Given the description of an element on the screen output the (x, y) to click on. 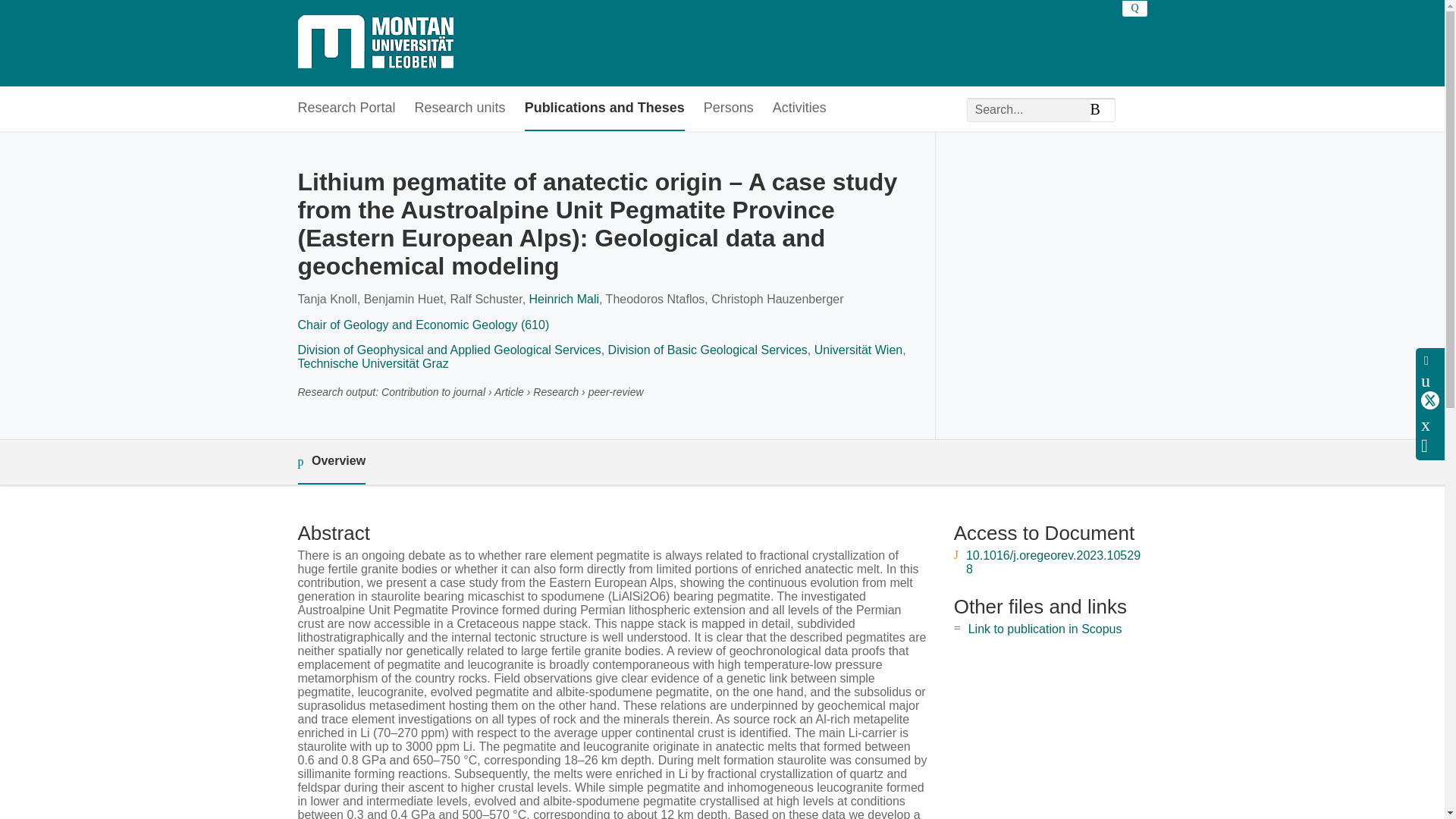
Research Portal (345, 108)
Overview (331, 461)
Publications and Theses (604, 108)
Persons (728, 108)
Link to publication in Scopus (1045, 628)
Division of Geophysical and Applied Geological Services (448, 349)
Research units (459, 108)
Activities (800, 108)
Division of Basic Geological Services (708, 349)
